Given the description of an element on the screen output the (x, y) to click on. 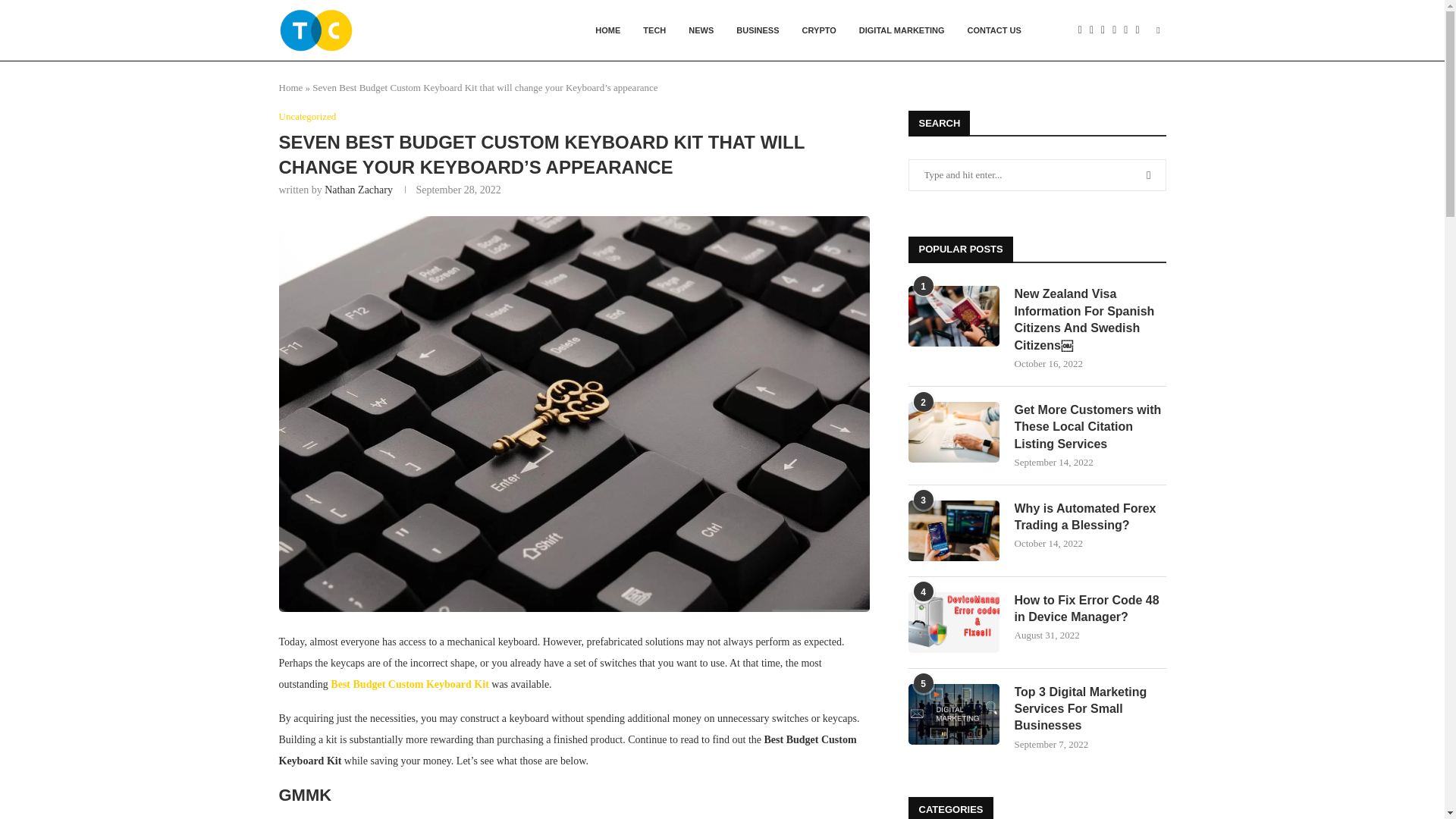
Nathan Zachary (358, 189)
BUSINESS (757, 30)
Top 3 Digital Marketing Services For Small Businesses (953, 713)
DIGITAL MARKETING (901, 30)
Best Budget Custom Keyboard Kit (408, 684)
Uncategorized (307, 116)
Home (290, 87)
How to Fix Error Code 48 in Device Manager? (1090, 609)
CRYPTO (818, 30)
CONTACT US (993, 30)
How to Fix Error Code 48 in Device Manager? (953, 622)
